Given the description of an element on the screen output the (x, y) to click on. 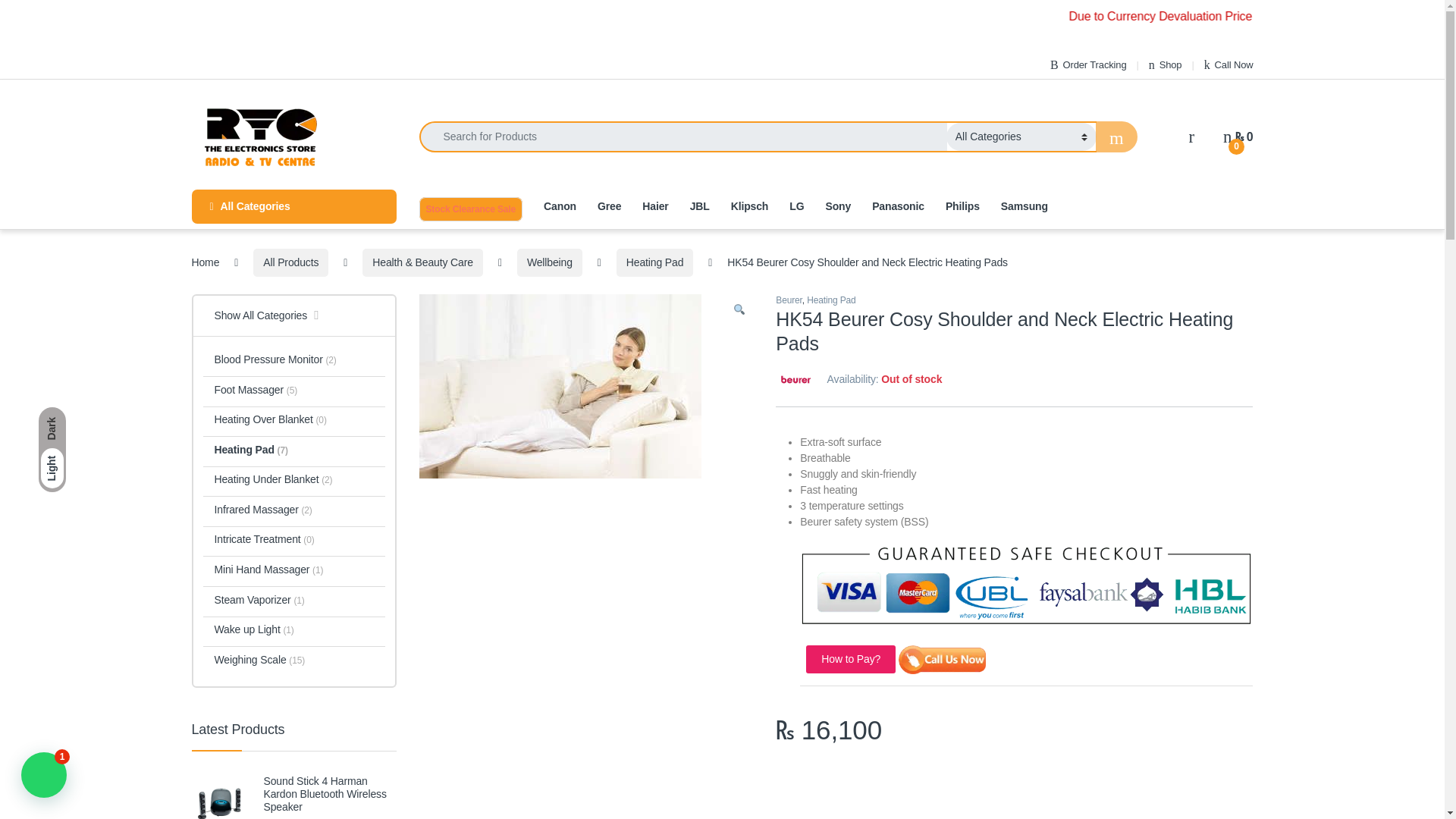
Shop (1165, 64)
Order Tracking (1087, 64)
Shop (1165, 64)
Dark (52, 428)
Light (52, 467)
Call Now (1228, 64)
Call Now (1228, 64)
Order Tracking (1087, 64)
